Given the description of an element on the screen output the (x, y) to click on. 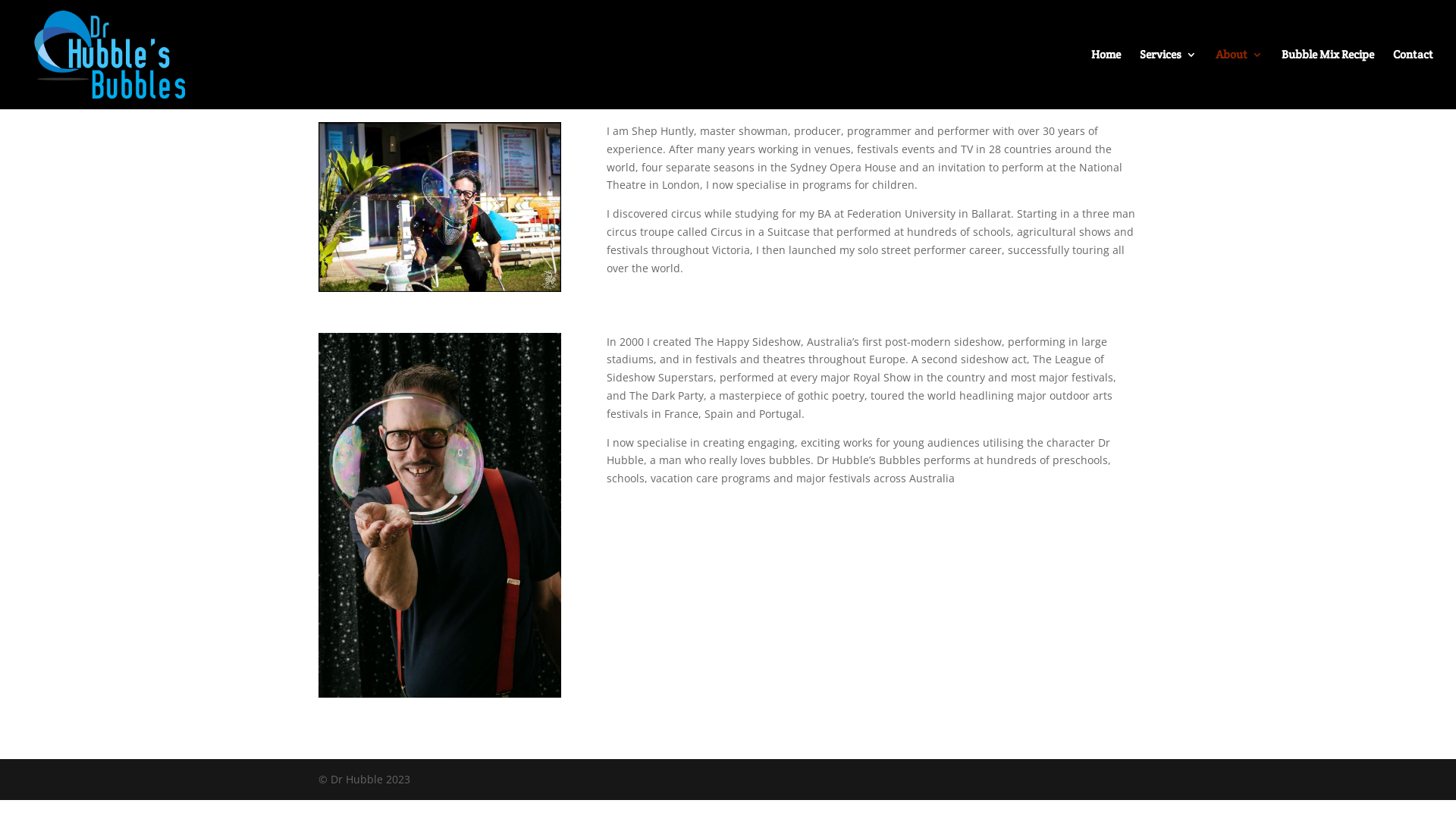
Dr Hubble looking through bubble Element type: hover (439, 515)
Services Element type: text (1167, 79)
Home Element type: text (1105, 79)
Contact Element type: text (1413, 79)
About Element type: text (1238, 79)
Bubble Mix Recipe Element type: text (1327, 79)
